Given the description of an element on the screen output the (x, y) to click on. 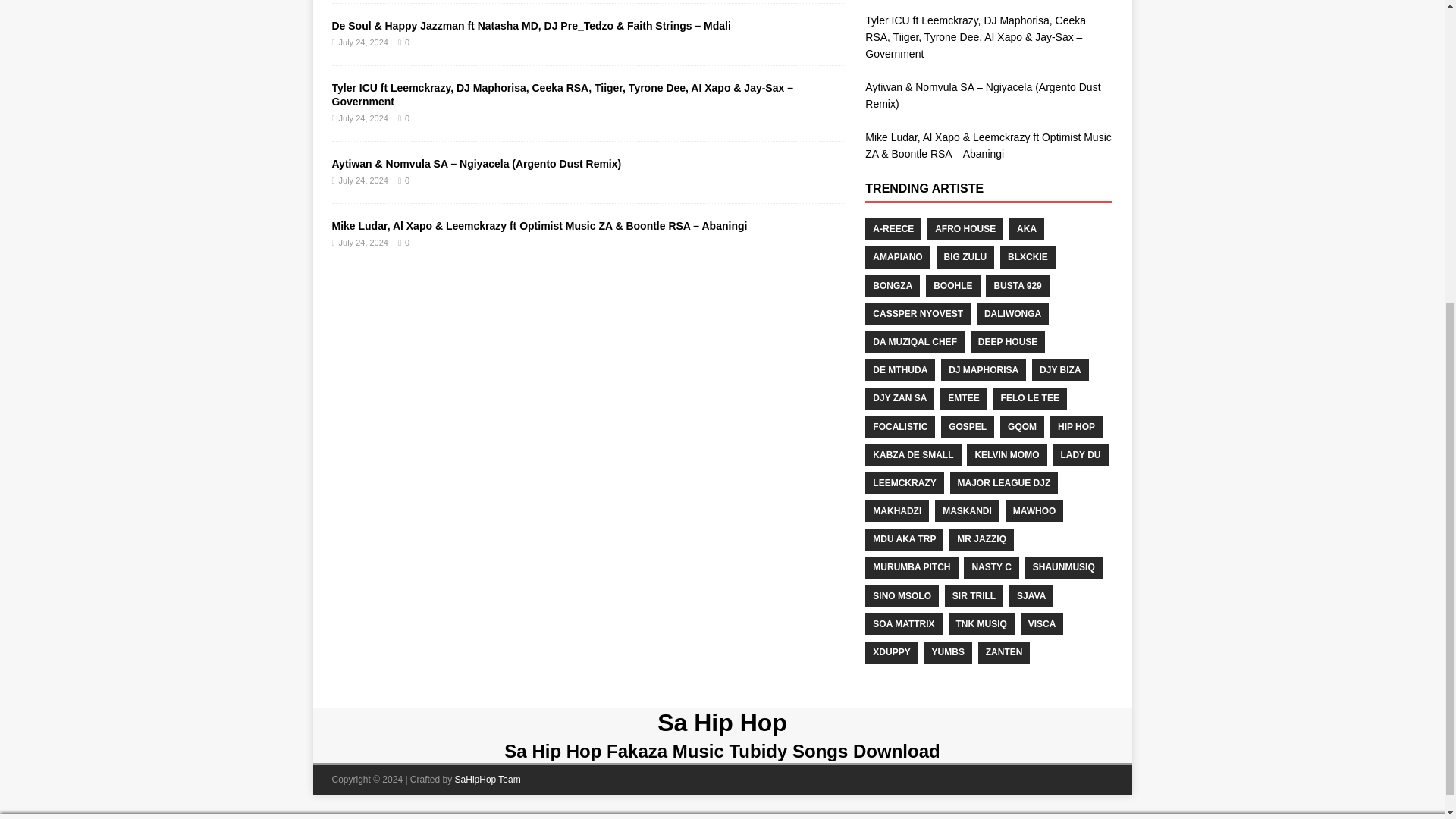
0 (406, 242)
0 (406, 41)
0 (406, 117)
0 (406, 180)
